Given the description of an element on the screen output the (x, y) to click on. 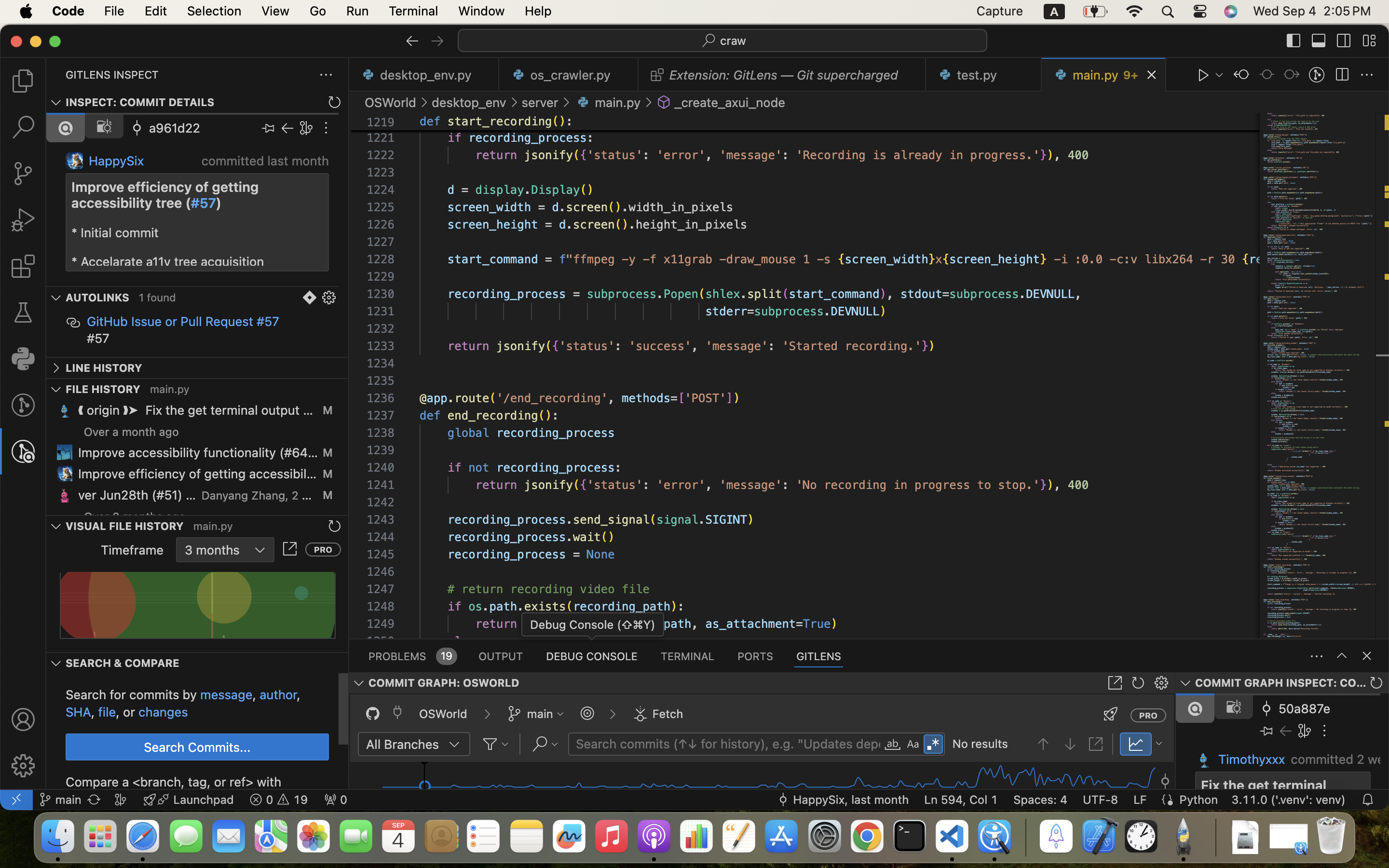
Timeframe Element type: AXStaticText (132, 549)
No results    Element type: AXGroup (1029, 744)
 Element type: AXStaticText (657, 74)
1219 Element type: AXStaticText (380, 122)
def Element type: AXStaticText (429, 121)
